Given the description of an element on the screen output the (x, y) to click on. 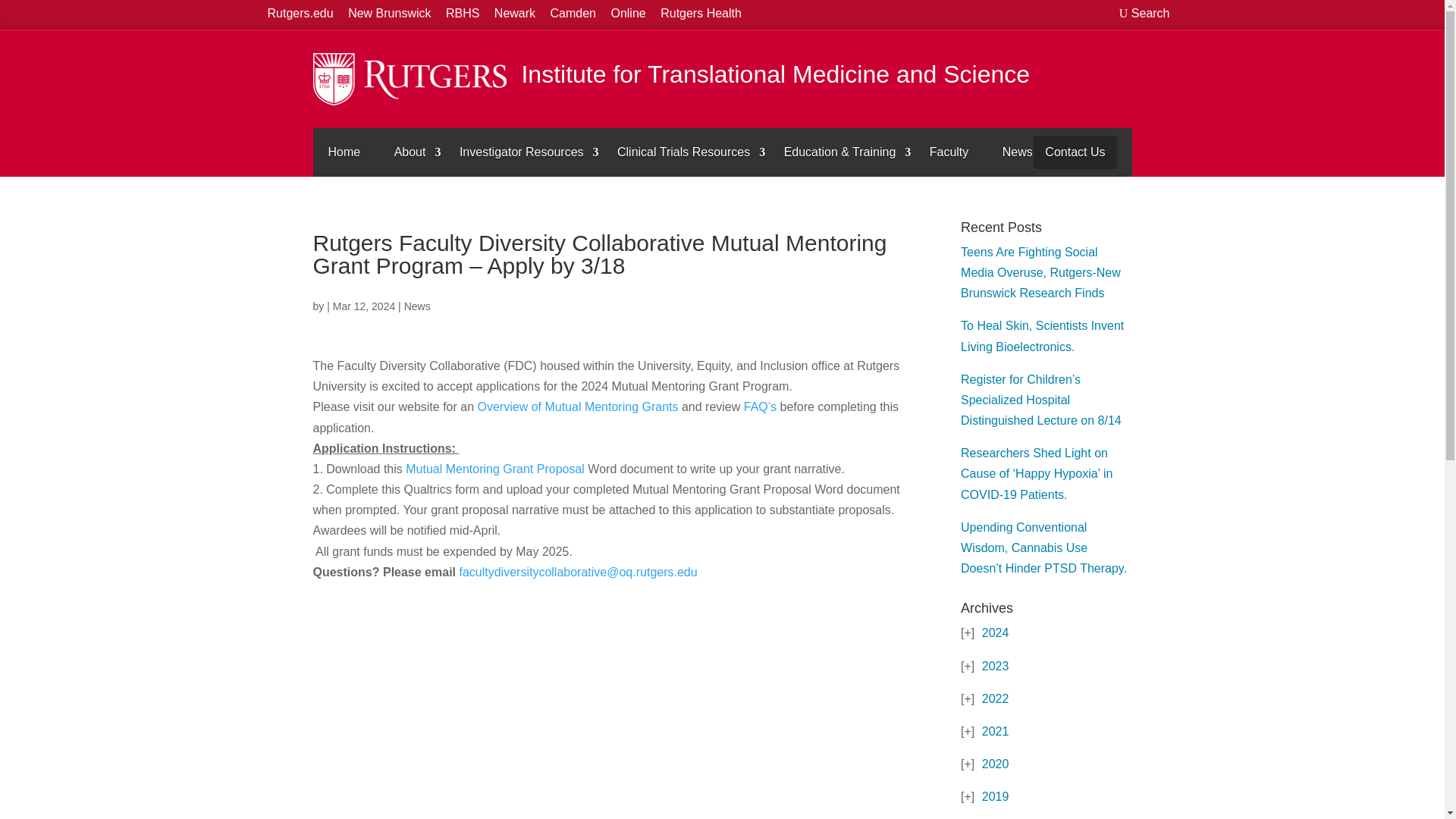
Newark (515, 14)
Search (1144, 13)
Institute for Translational Medicine and Science (677, 78)
Investigator Resources (521, 151)
Home (344, 151)
Go to Rutgers Newark campus website (515, 14)
RBHS (462, 14)
Go to Rutgers Camden campus website (572, 14)
Camden (572, 14)
New Brunswick (388, 14)
Clinical Trials Resources (683, 151)
Go to Rutgers University homepage (299, 14)
Rutgers Biomedical and Health Sciences (462, 14)
Online (627, 14)
